Given the description of an element on the screen output the (x, y) to click on. 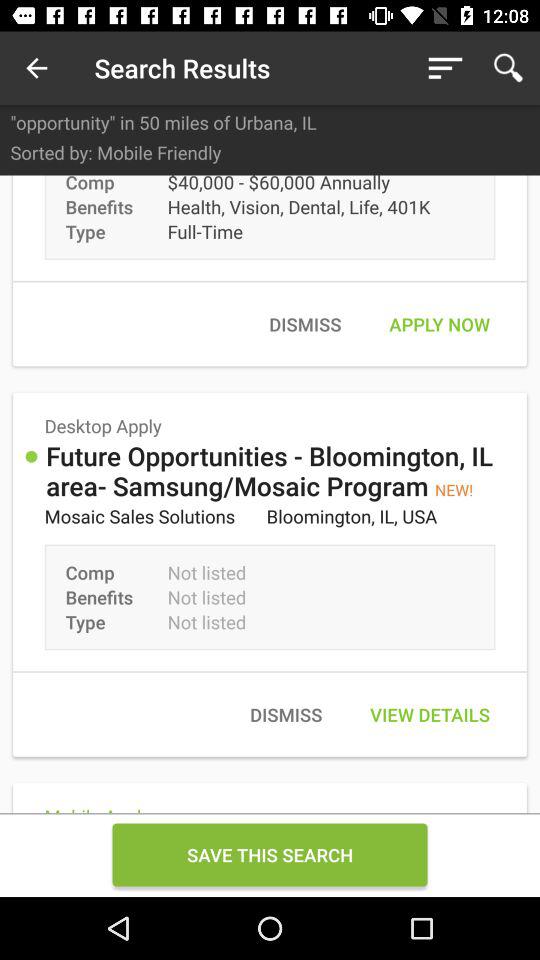
swipe until apply now icon (439, 323)
